Given the description of an element on the screen output the (x, y) to click on. 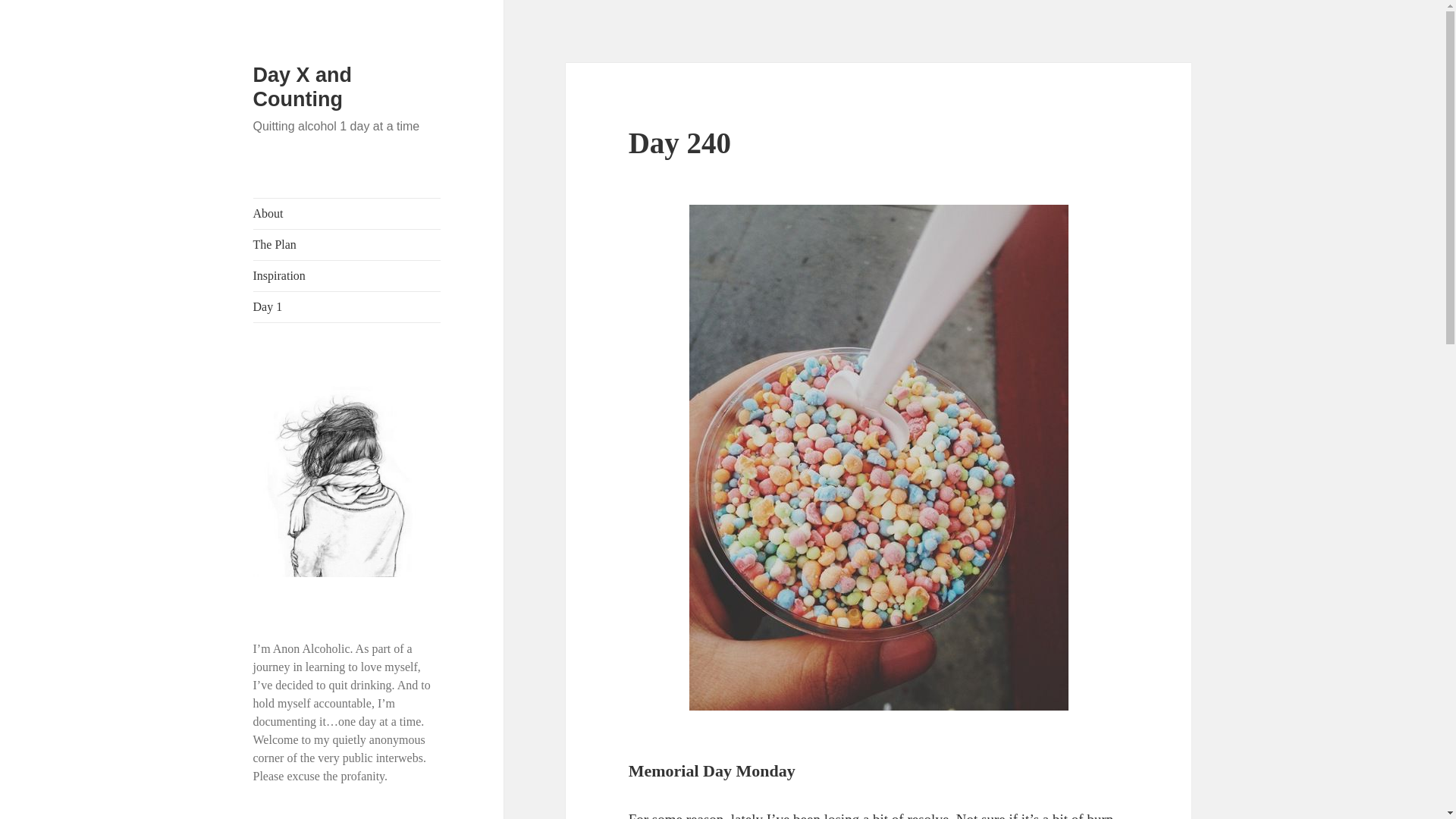
About (347, 214)
The Plan (347, 245)
Day 1 (347, 306)
Day X and Counting (302, 86)
Inspiration (347, 276)
